Given the description of an element on the screen output the (x, y) to click on. 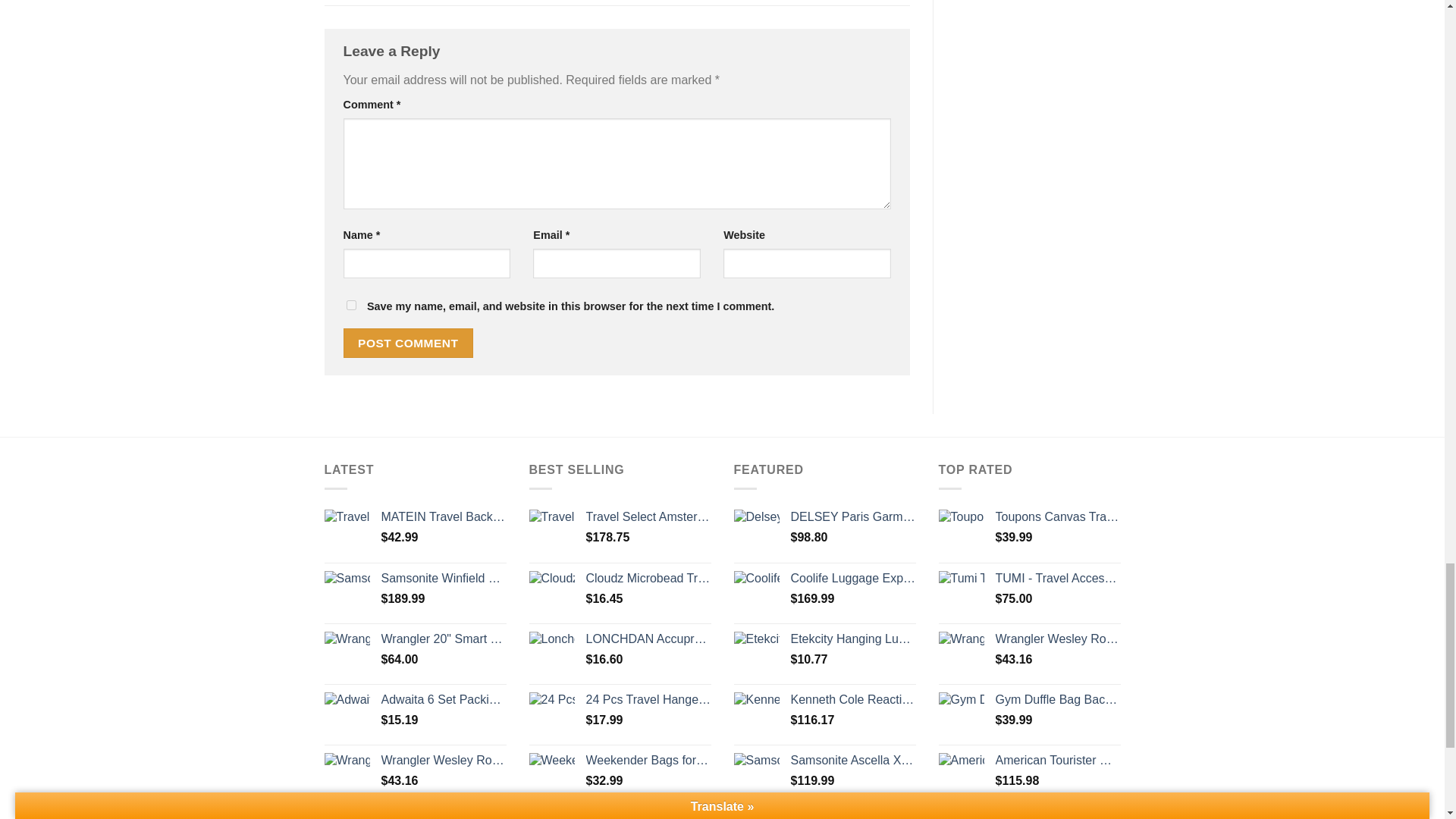
Post Comment (407, 342)
yes (350, 305)
